Given the description of an element on the screen output the (x, y) to click on. 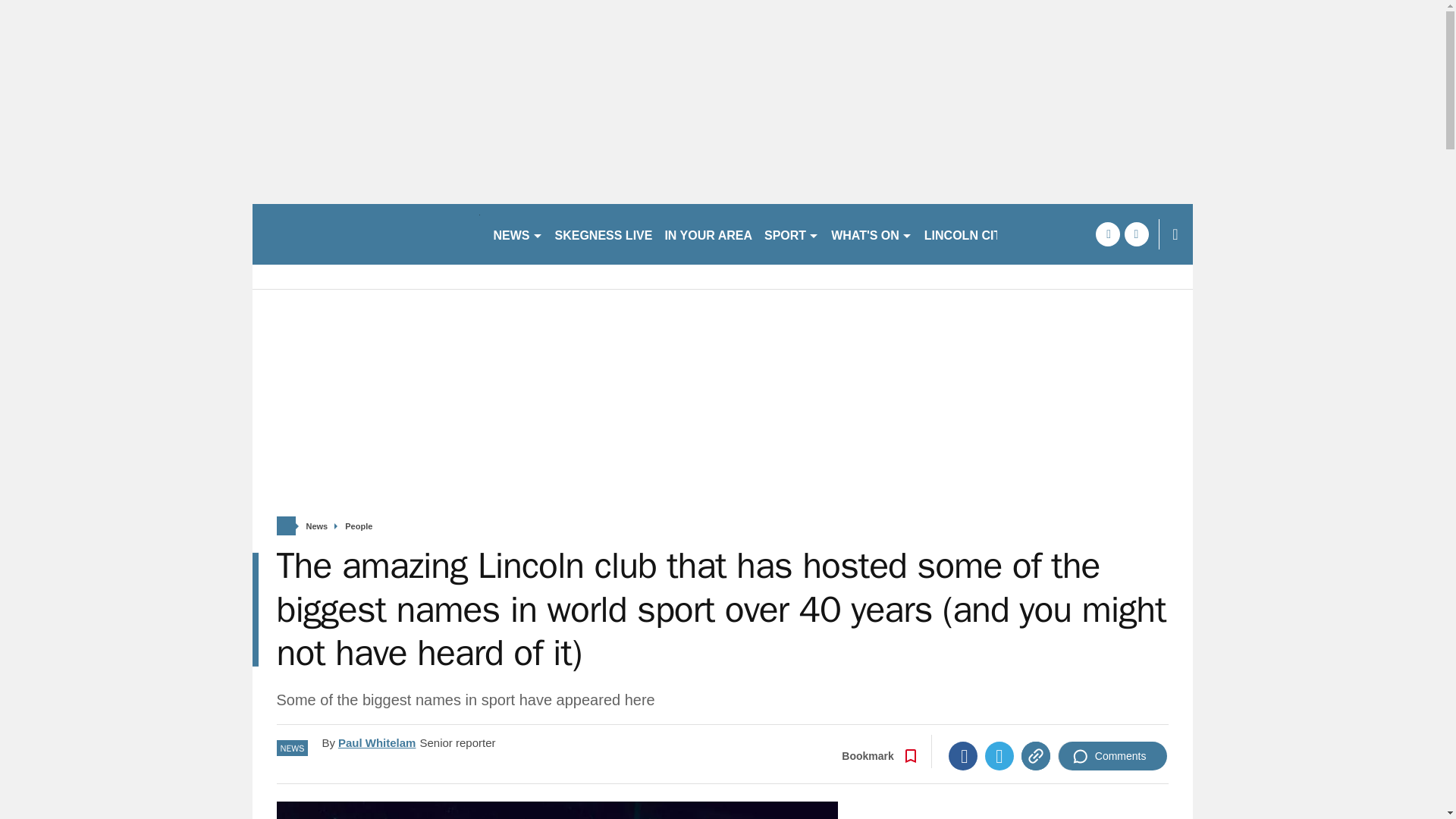
Comments (1112, 756)
LINCOLN CITY FC (975, 233)
SKEGNESS LIVE (603, 233)
IN YOUR AREA (708, 233)
lincolnshirelive (365, 233)
Twitter (999, 756)
Facebook (962, 756)
twitter (1136, 233)
WHAT'S ON (871, 233)
SPORT (791, 233)
